Given the description of an element on the screen output the (x, y) to click on. 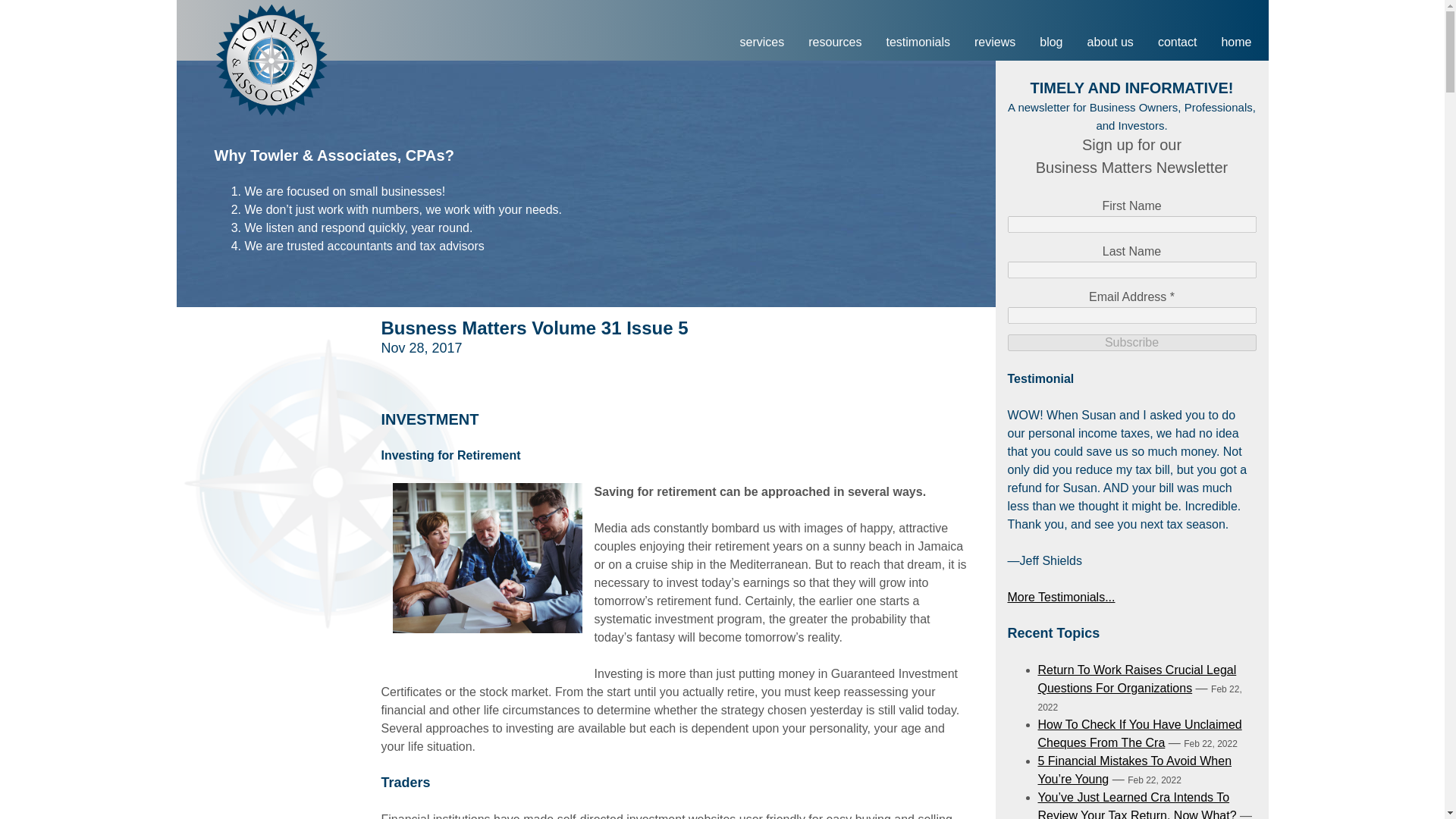
How To Check If You Have Unclaimed Cheques From The Cra (1138, 733)
resources (834, 42)
More Testimonials... (1061, 596)
blog (1050, 42)
services (762, 42)
Subscribe (1131, 342)
home (1235, 42)
contact (1177, 42)
about us (1109, 42)
Subscribe (1131, 342)
testimonials (918, 42)
reviews (994, 42)
